Given the description of an element on the screen output the (x, y) to click on. 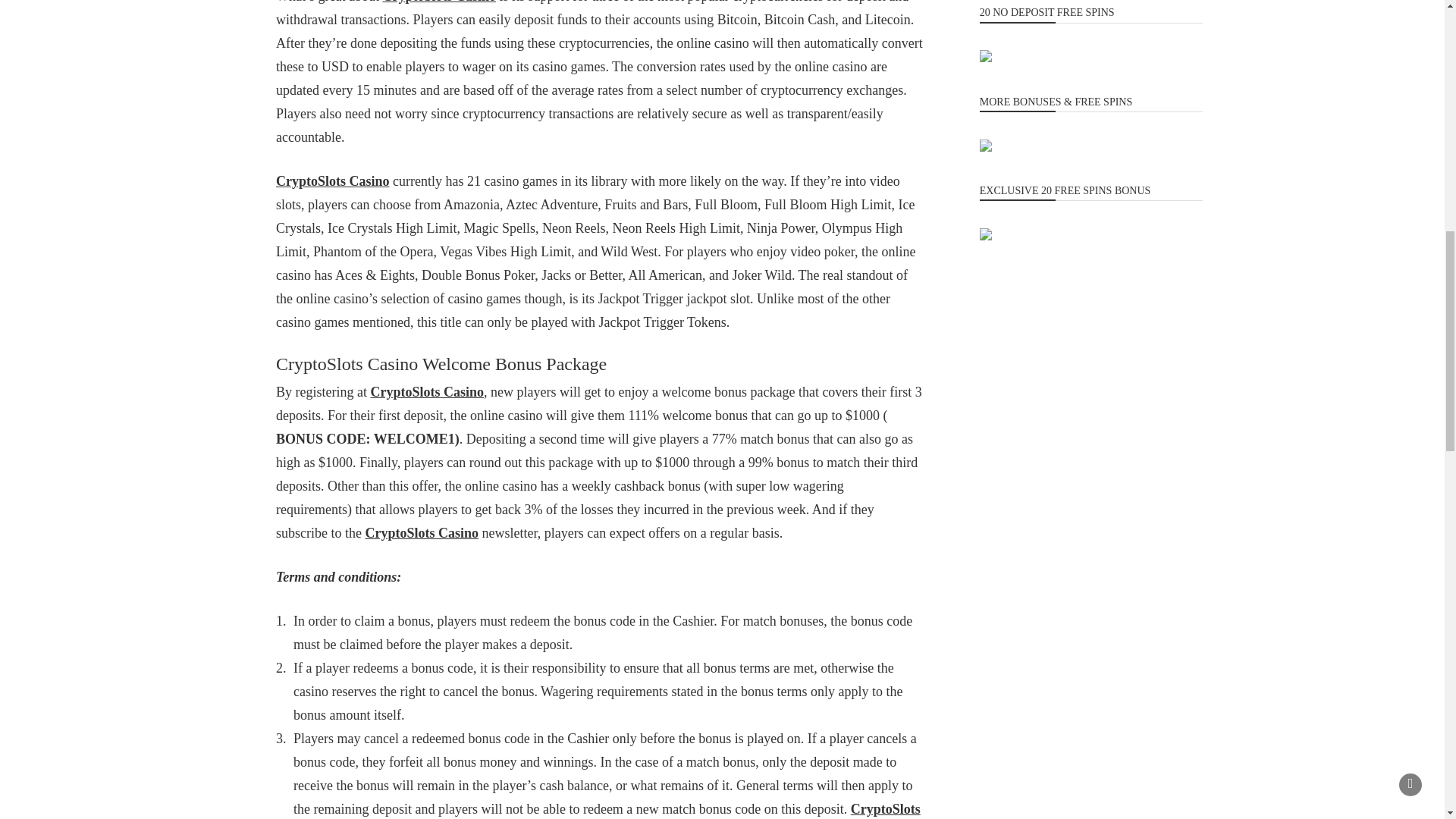
CryptoSlots Casino (333, 181)
CryptoSlots Casino (426, 391)
CryptoSlots Casino (422, 532)
CryptoSlots Casino (607, 810)
CryptoSlots Casino (438, 2)
